Given the description of an element on the screen output the (x, y) to click on. 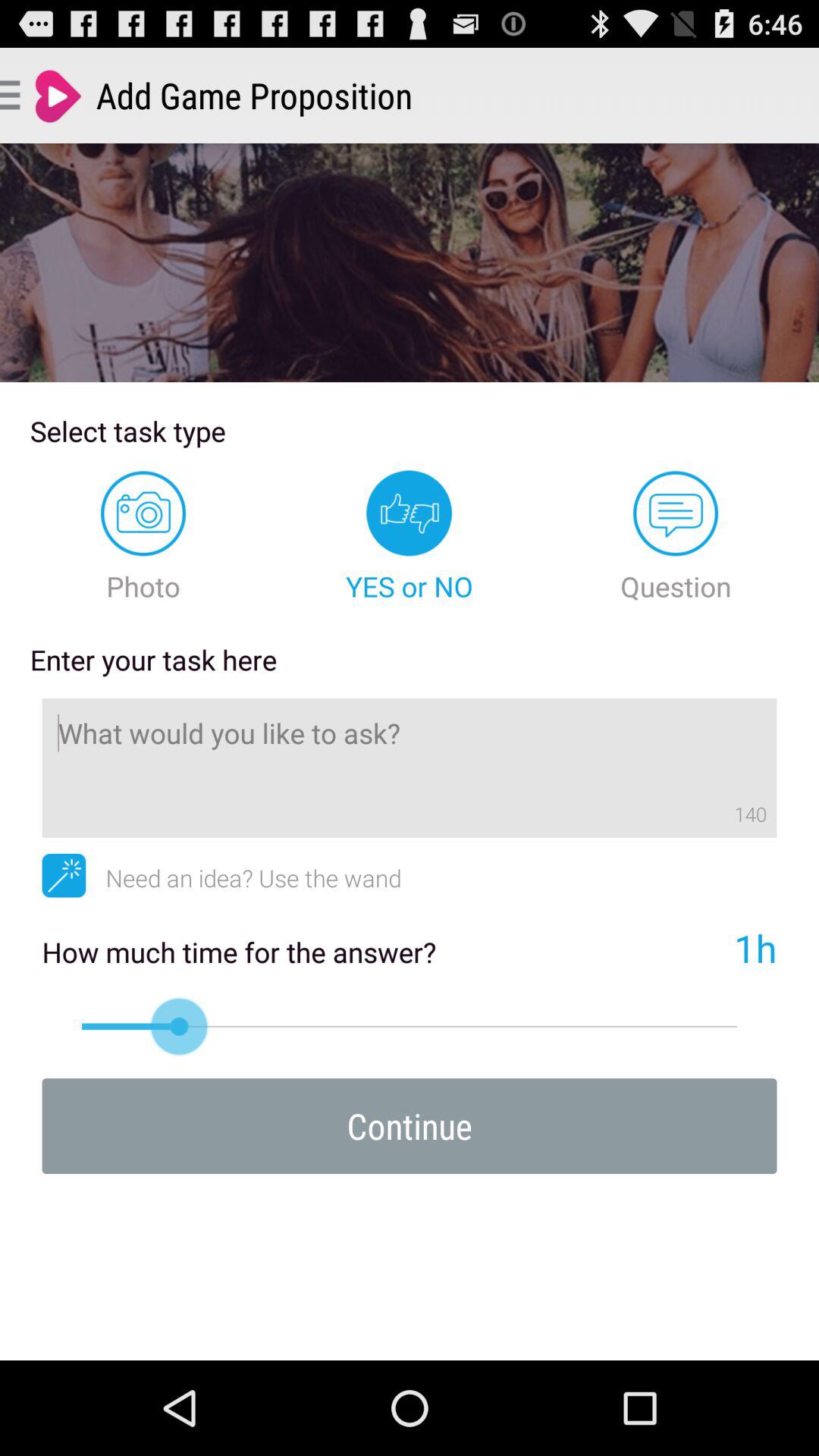
use the wand (63, 875)
